Given the description of an element on the screen output the (x, y) to click on. 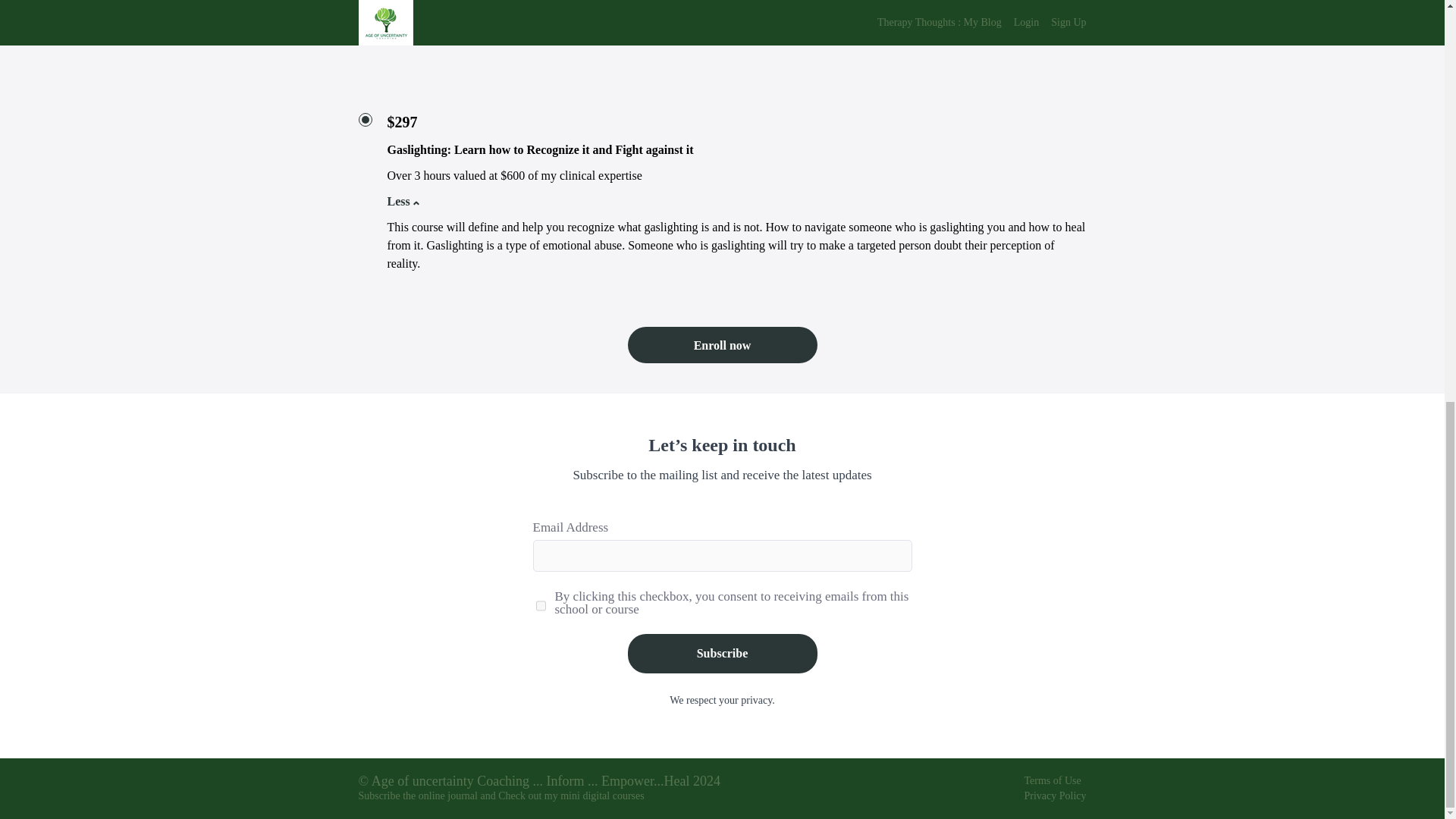
Privacy Policy (1054, 795)
Less (399, 201)
Enroll now (721, 344)
Subscribe (721, 653)
Terms of Use (1051, 780)
